Given the description of an element on the screen output the (x, y) to click on. 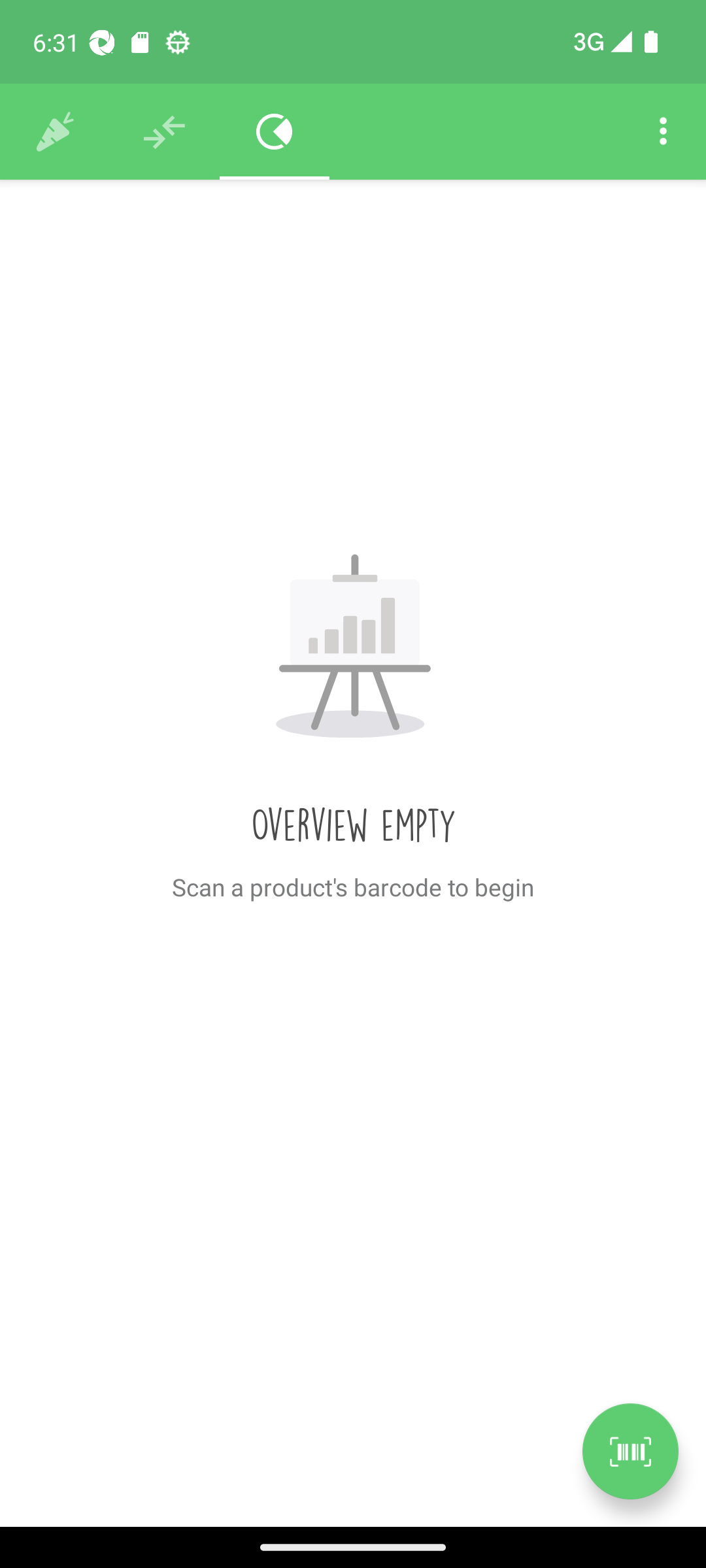
History (55, 131)
Recommendations (164, 131)
Settings (663, 131)
Scan a product (630, 1451)
